Given the description of an element on the screen output the (x, y) to click on. 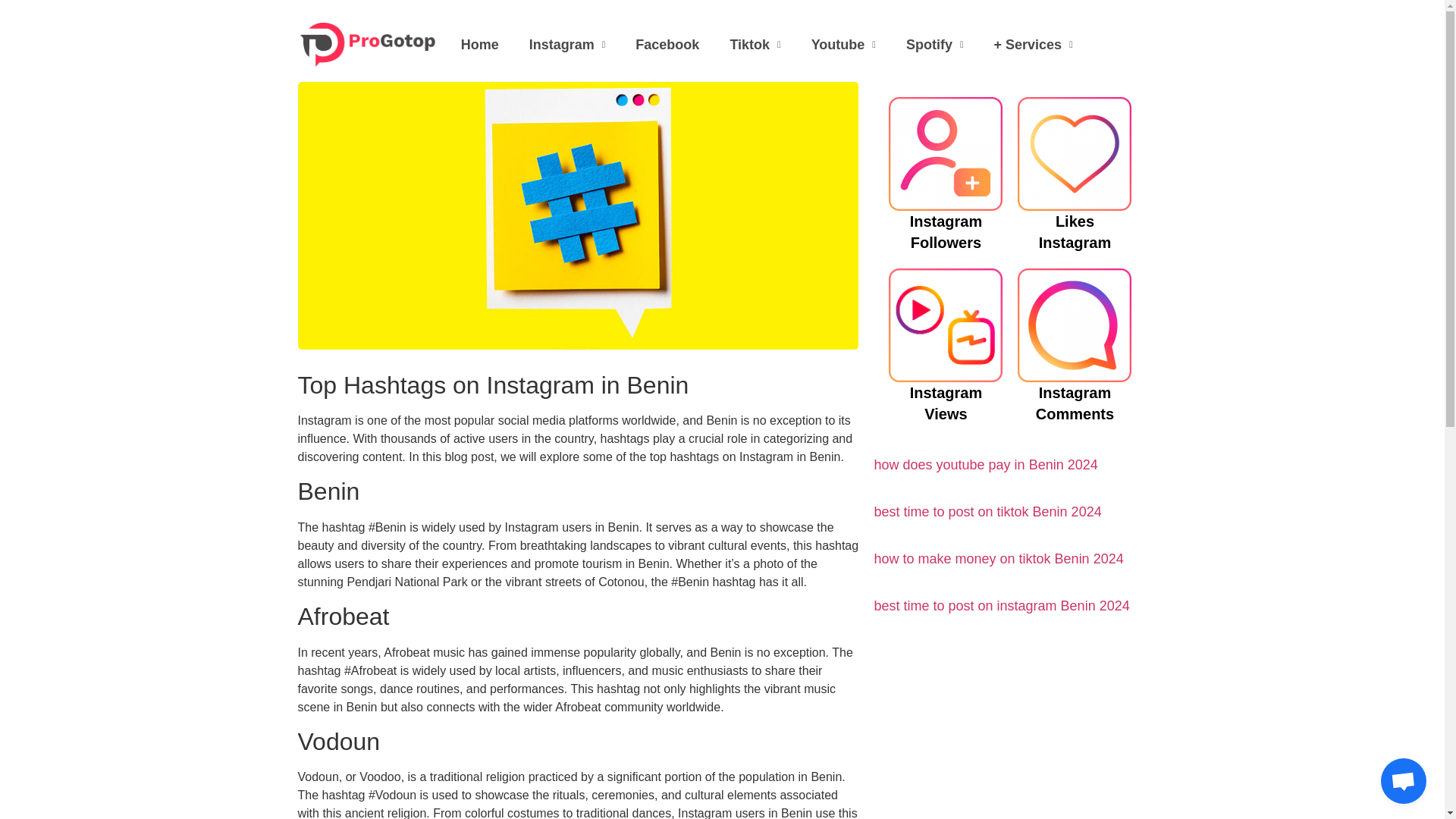
buy facebook likes Benin (667, 44)
Home (479, 44)
Facebook (667, 44)
Tiktok (754, 44)
Spotify (934, 44)
Youtube (843, 44)
Instagram (567, 44)
